Given the description of an element on the screen output the (x, y) to click on. 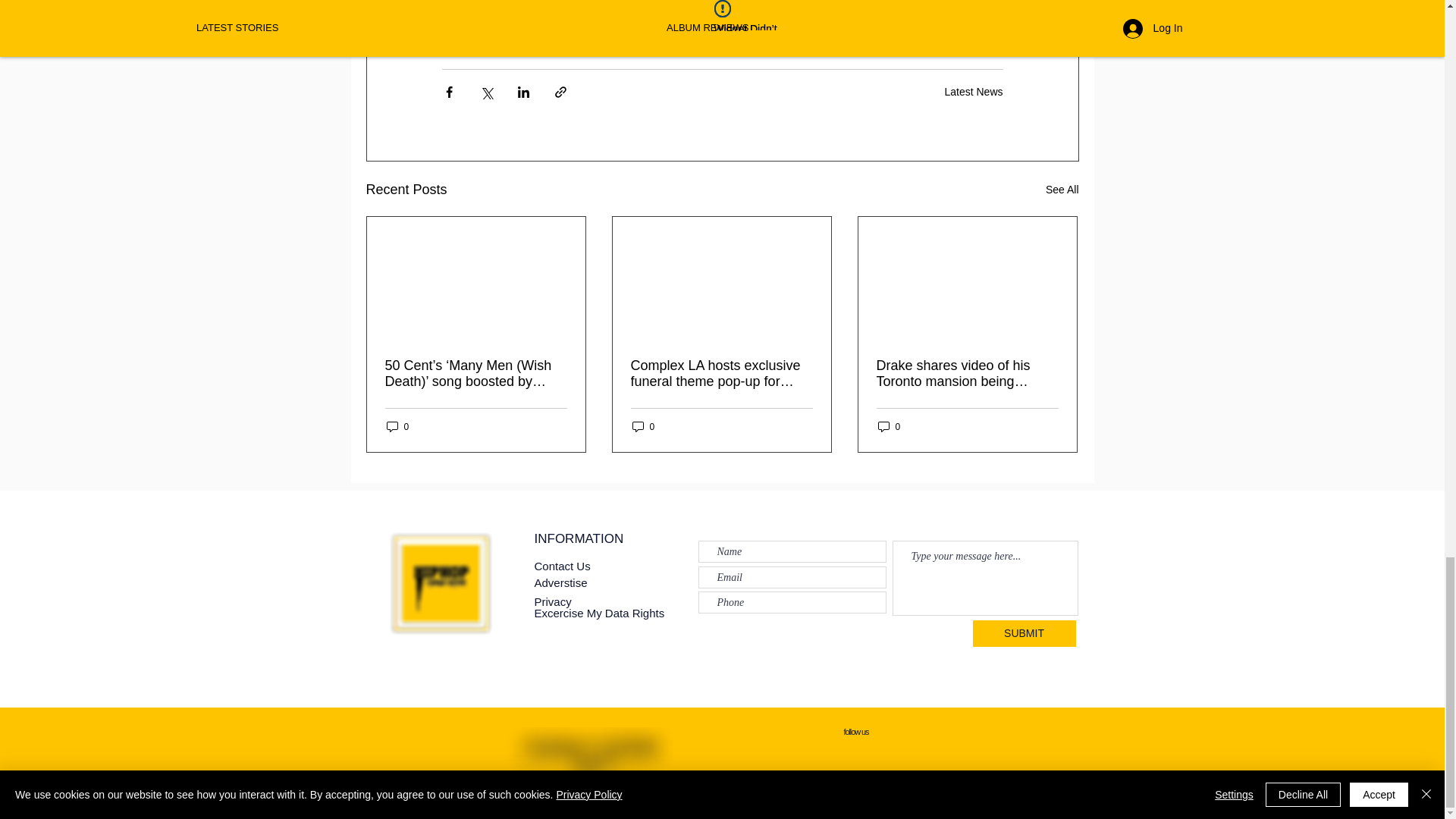
0 (889, 426)
0 (643, 426)
SUBMIT (1023, 633)
See All (1061, 189)
Latest News (973, 91)
0 (397, 426)
